Given the description of an element on the screen output the (x, y) to click on. 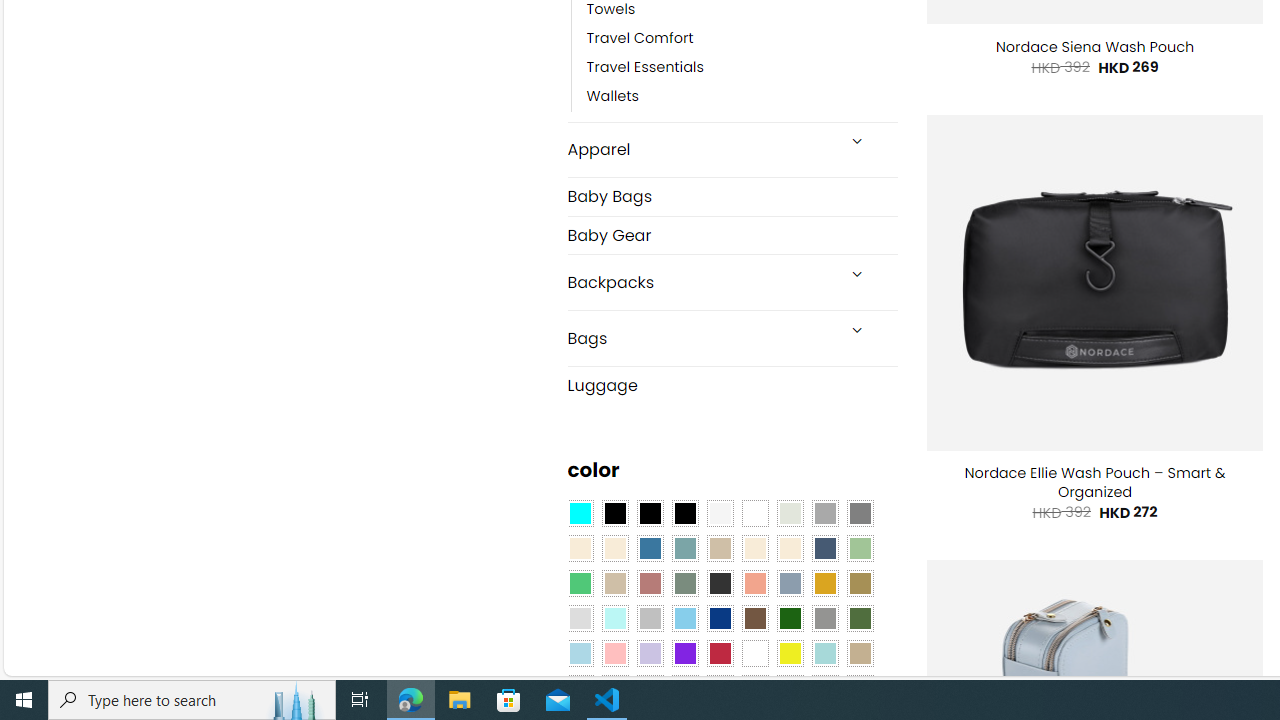
Brown (755, 619)
Rose (650, 583)
Light Taupe (614, 583)
Backpacks (700, 282)
Beige (579, 548)
Khaki (859, 653)
Kelp (859, 583)
Luggage (732, 384)
Green (859, 619)
Silver (650, 619)
Beige-Brown (614, 548)
